Given the description of an element on the screen output the (x, y) to click on. 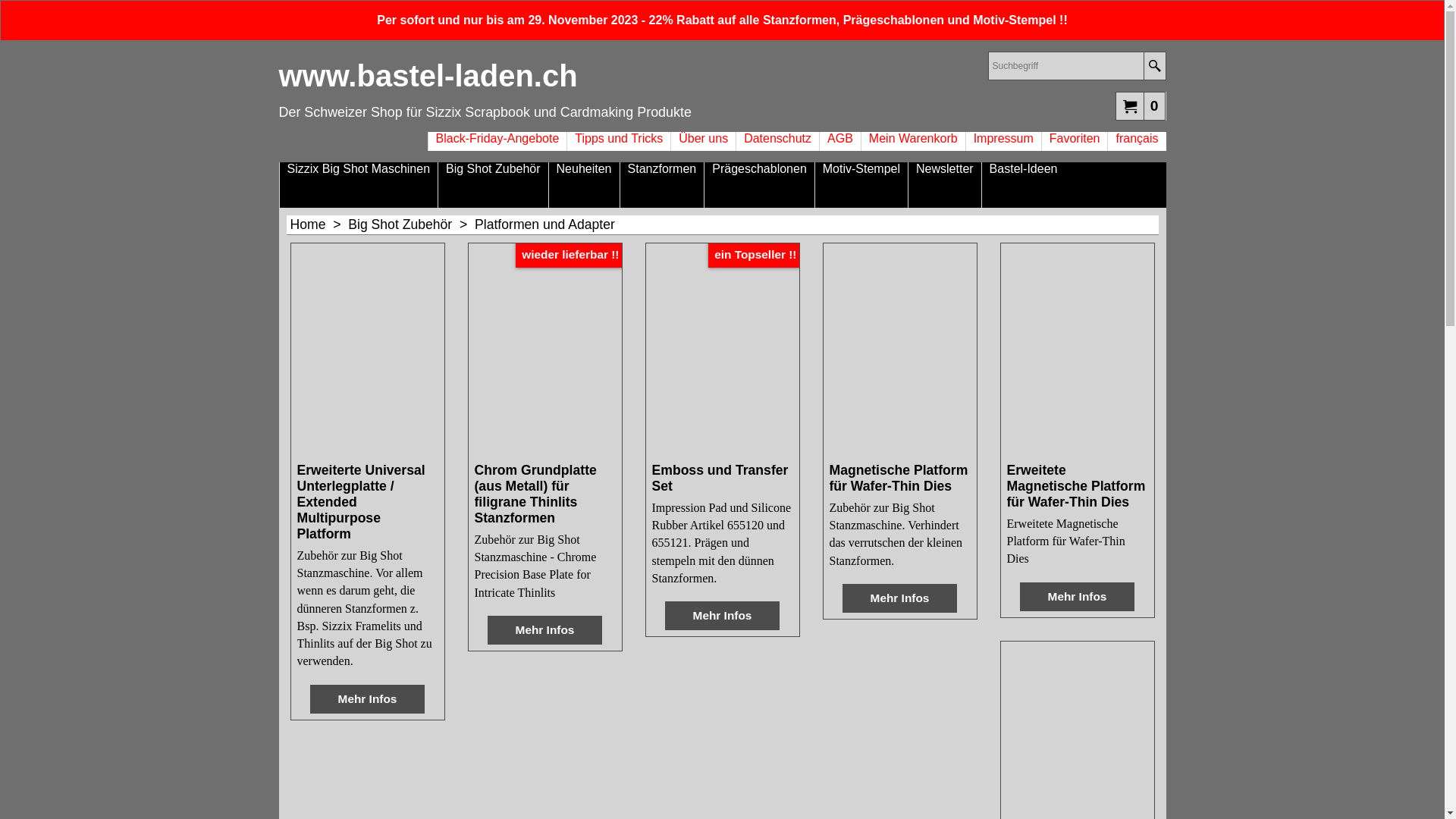
Black-Friday-Angebote Element type: text (497, 140)
AGB Element type: text (839, 140)
Impressum Element type: text (1003, 140)
Tipps und Tricks Element type: text (618, 140)
Mehr Infos Element type: text (367, 698)
Suche Element type: hover (1154, 65)
0 Element type: text (1140, 105)
Mehr Infos Element type: text (899, 597)
Newsletter Element type: text (944, 184)
Favoriten Element type: text (1074, 140)
Mein Warenkorb Element type: text (913, 140)
Bastel-Ideen Element type: text (1023, 184)
Sizzix Big Shot Maschinen Element type: text (358, 184)
Motiv-Stempel Element type: text (861, 184)
Emboss und Transfer Set Element type: text (722, 478)
Datenschutz Element type: text (777, 140)
Mehr Infos Element type: text (722, 615)
Home  >  Element type: text (318, 224)
Stanzformen Element type: text (662, 184)
Neuheiten Element type: text (584, 184)
Mehr Infos Element type: text (1077, 596)
Mehr Infos Element type: text (545, 629)
